Given the description of an element on the screen output the (x, y) to click on. 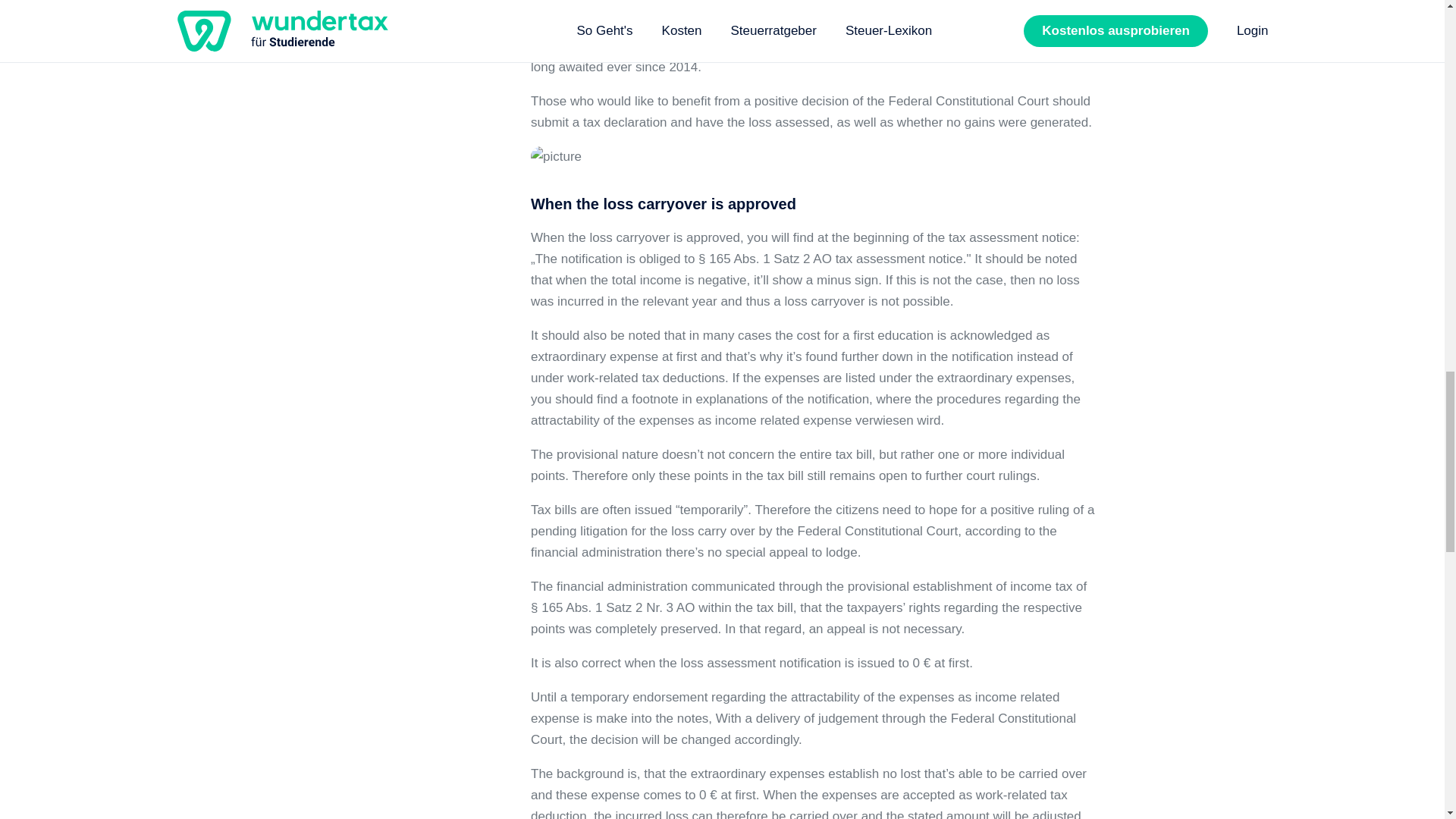
picture (555, 156)
